Given the description of an element on the screen output the (x, y) to click on. 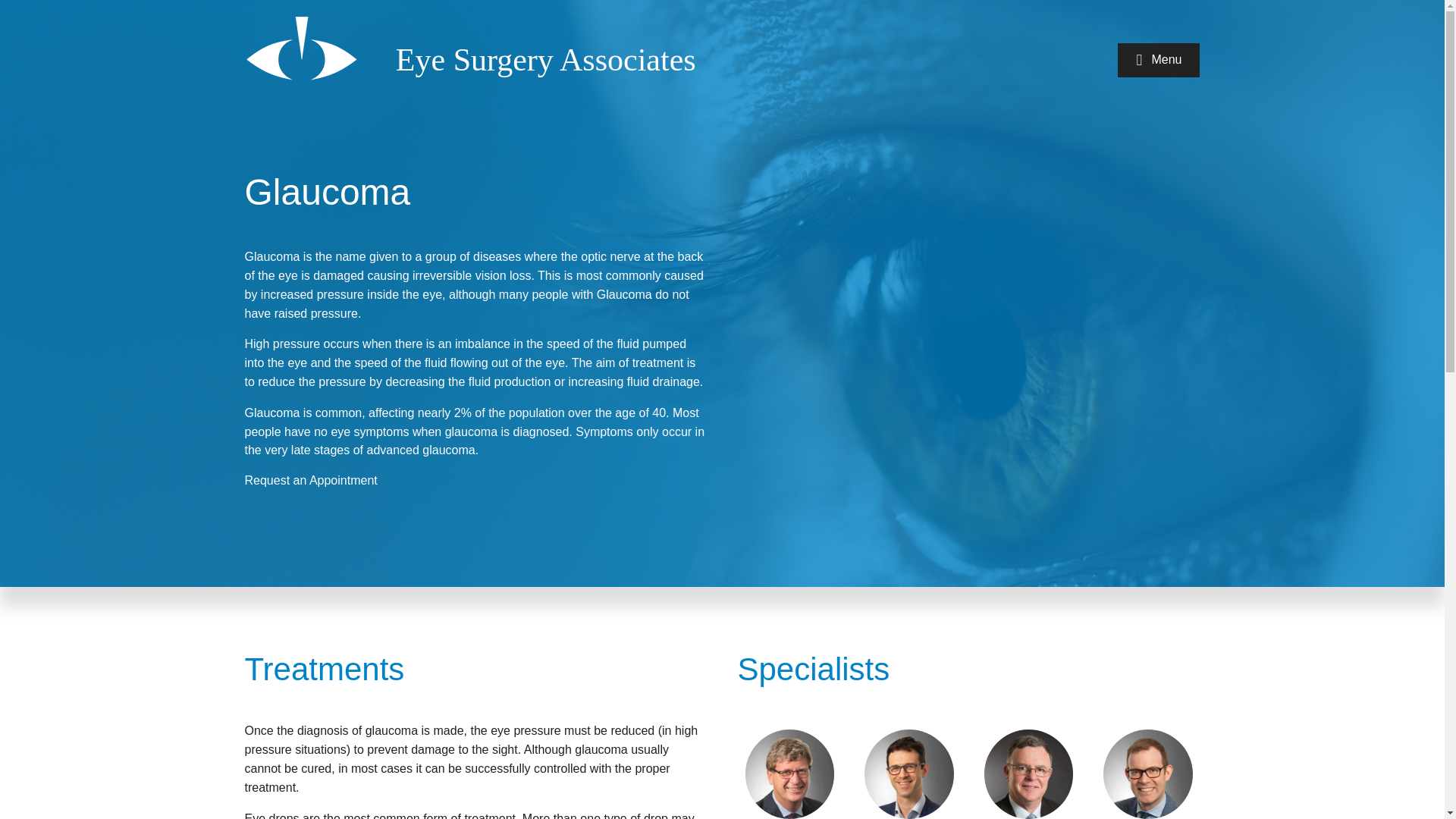
Click Here (1158, 59)
Eye Surgery Associates (545, 59)
Eye Surgery Associates (545, 59)
Dr Nathan Kerr (1147, 770)
Menu (1158, 59)
Dr James Galbraith (1028, 770)
eyesurgery-logo-cropped (300, 44)
